Given the description of an element on the screen output the (x, y) to click on. 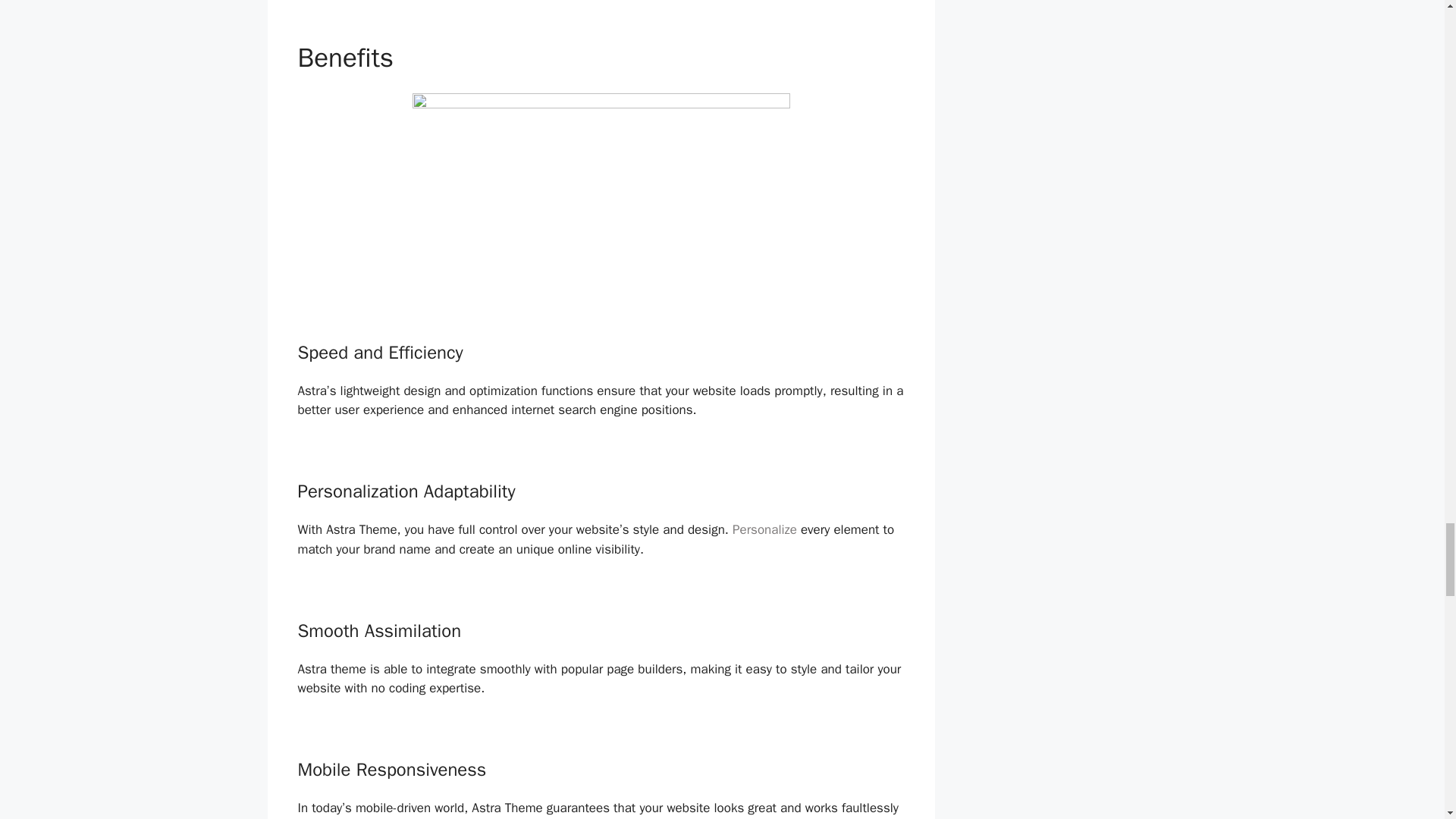
Personalize (764, 529)
